Given the description of an element on the screen output the (x, y) to click on. 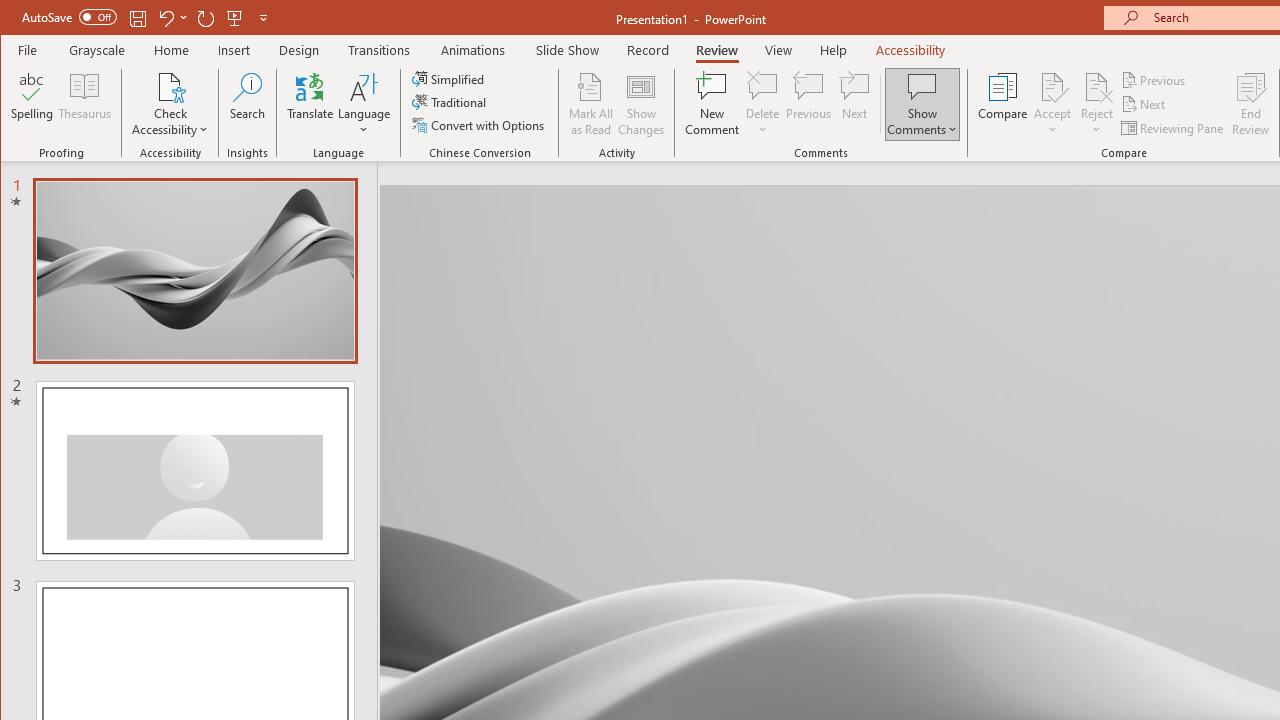
Previous (1154, 80)
Translate (310, 104)
Grayscale (97, 50)
Simplified (450, 78)
Compare (1002, 104)
Language (363, 104)
